Given the description of an element on the screen output the (x, y) to click on. 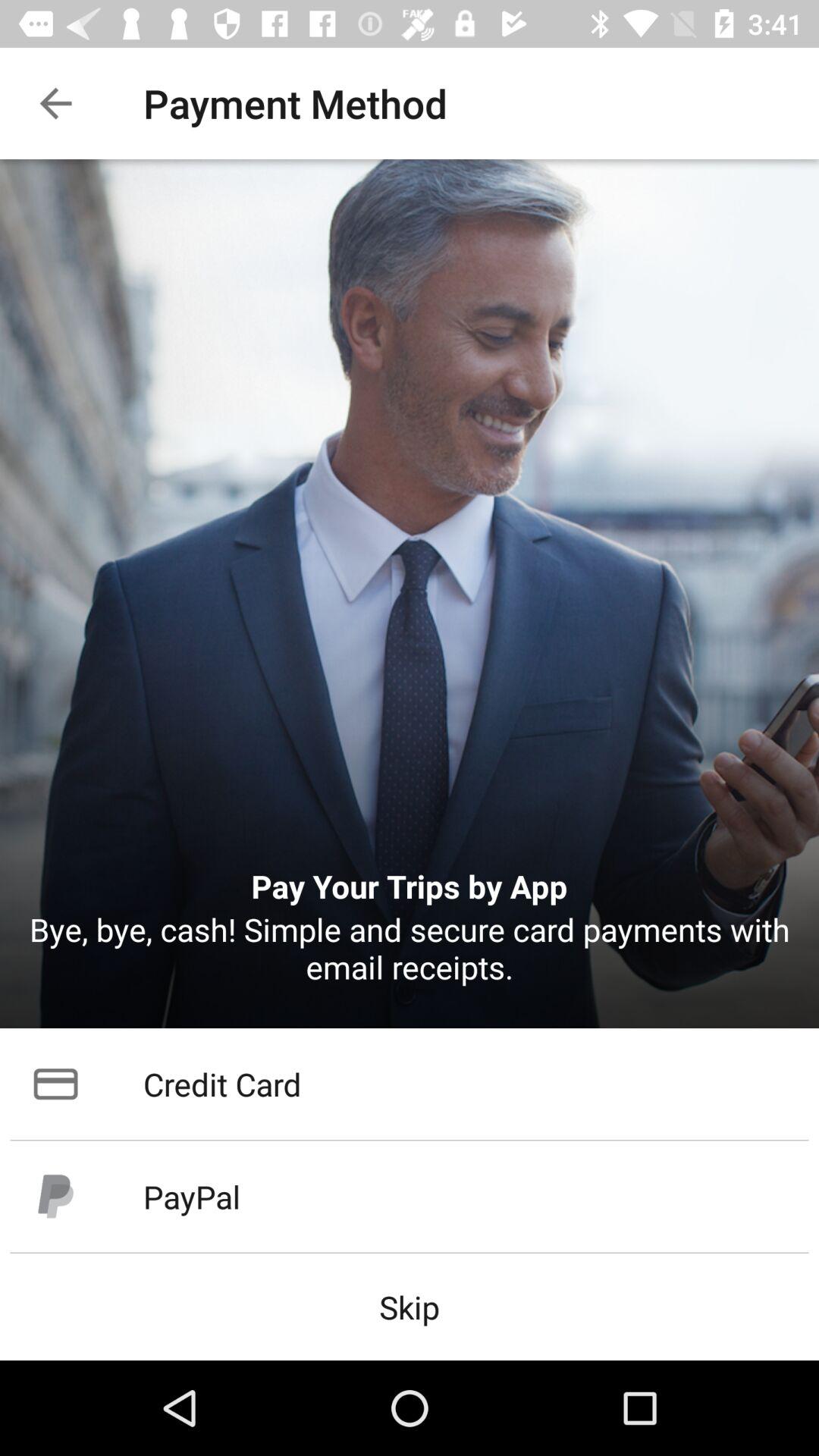
select the item below the paypal icon (409, 1306)
